Given the description of an element on the screen output the (x, y) to click on. 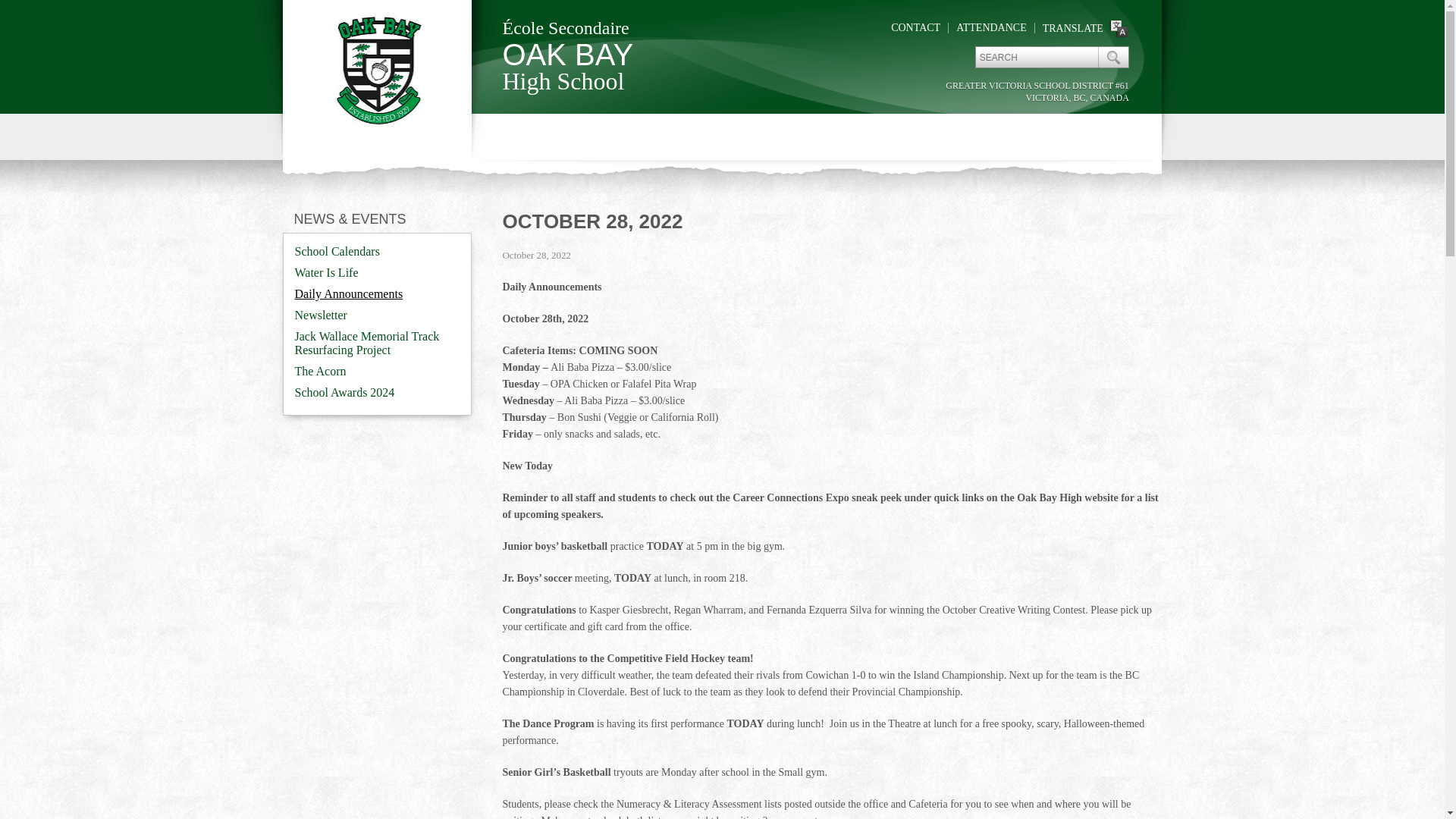
ATTENDANCE (991, 27)
CONTACT (915, 27)
